Given the description of an element on the screen output the (x, y) to click on. 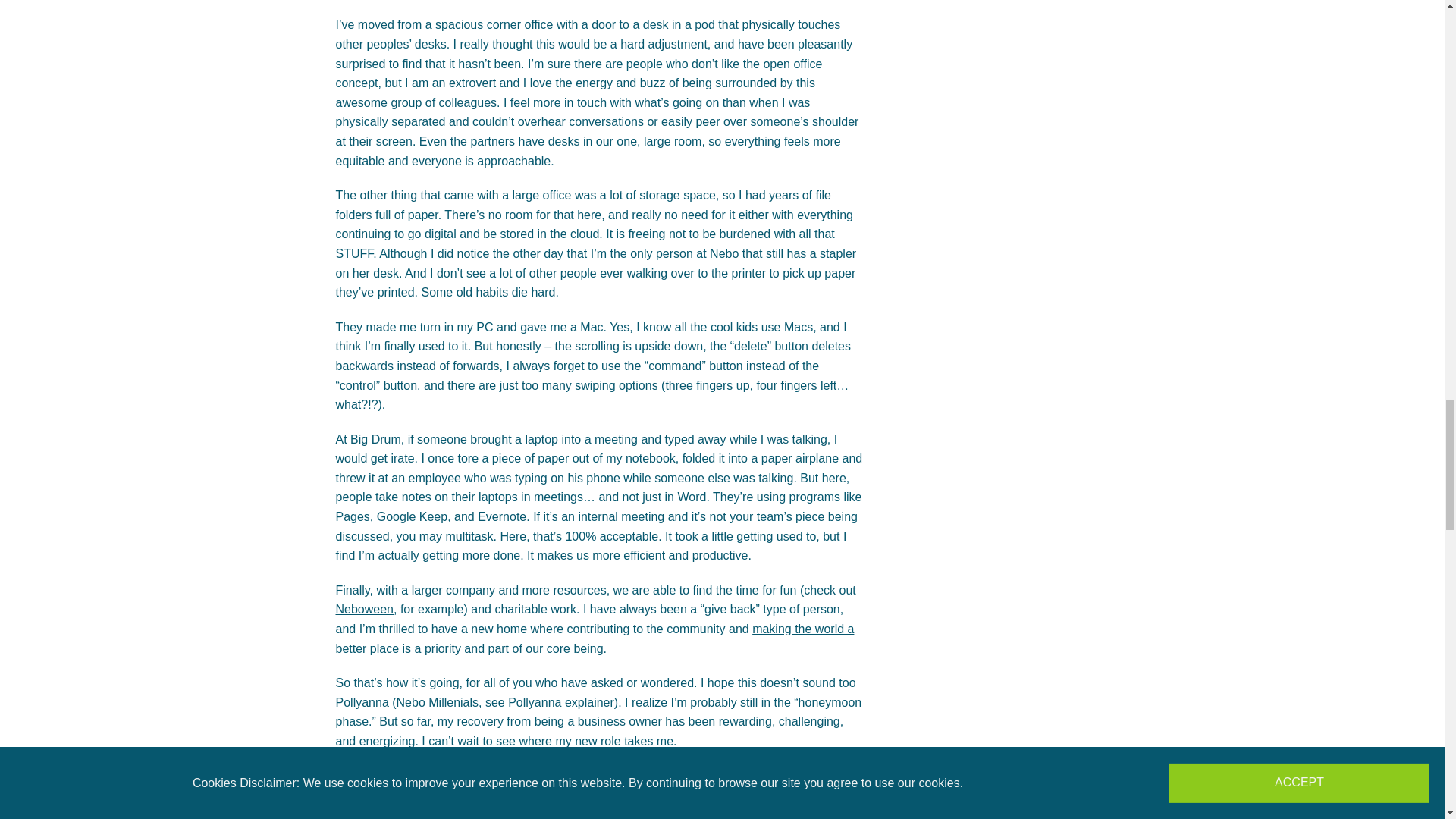
Pollyanna explainer (561, 702)
Neboween (363, 608)
